Given the description of an element on the screen output the (x, y) to click on. 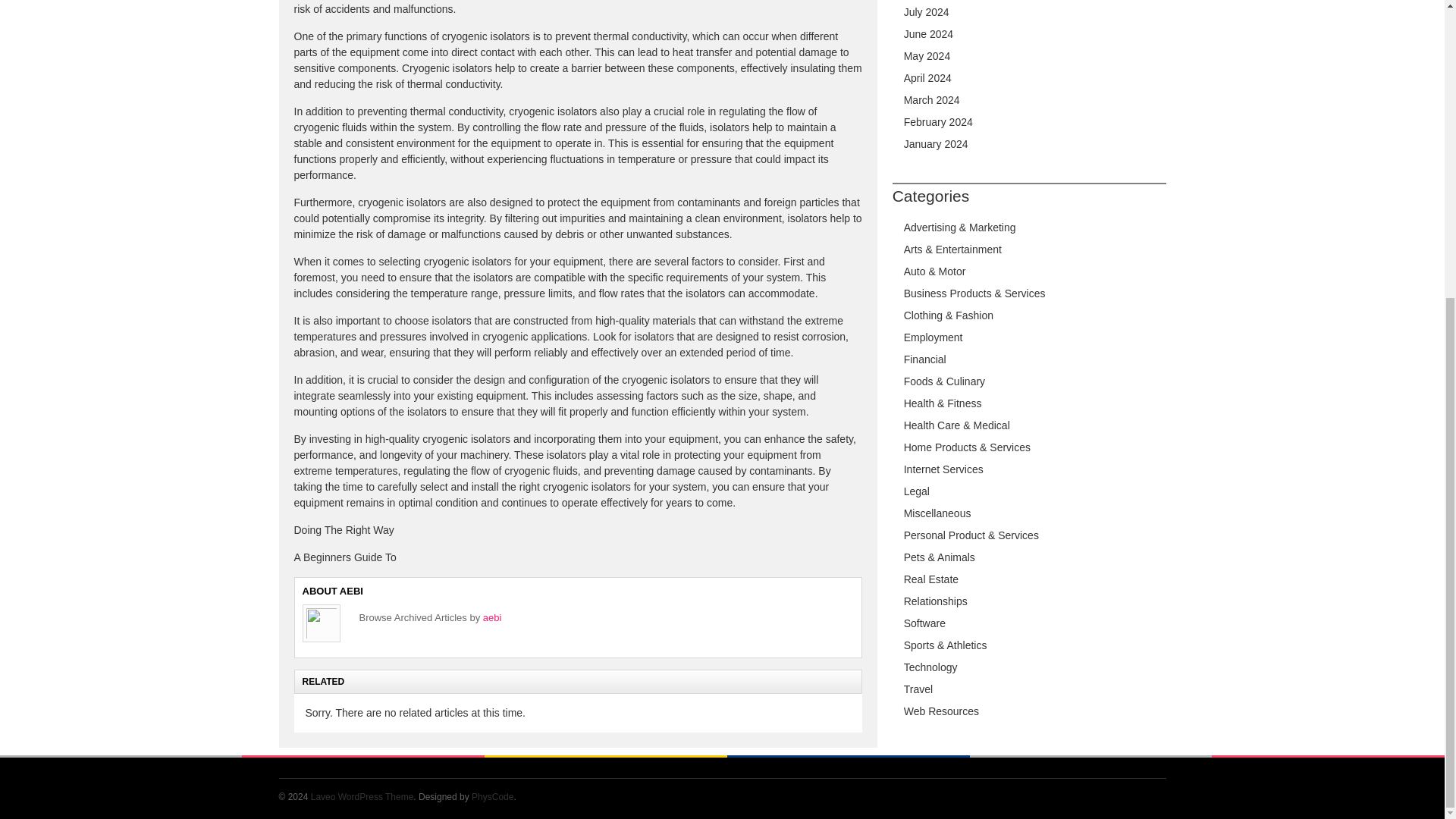
Real Estate (931, 579)
July 2024 (926, 11)
Internet Services (944, 469)
June 2024 (928, 33)
Miscellaneous (937, 512)
Financial (925, 358)
Legal (917, 491)
Relationships (936, 601)
January 2024 (936, 143)
May 2024 (927, 55)
Doing The Right Way (344, 530)
February 2024 (938, 121)
Employment (933, 337)
aebi (492, 617)
March 2024 (931, 100)
